Given the description of an element on the screen output the (x, y) to click on. 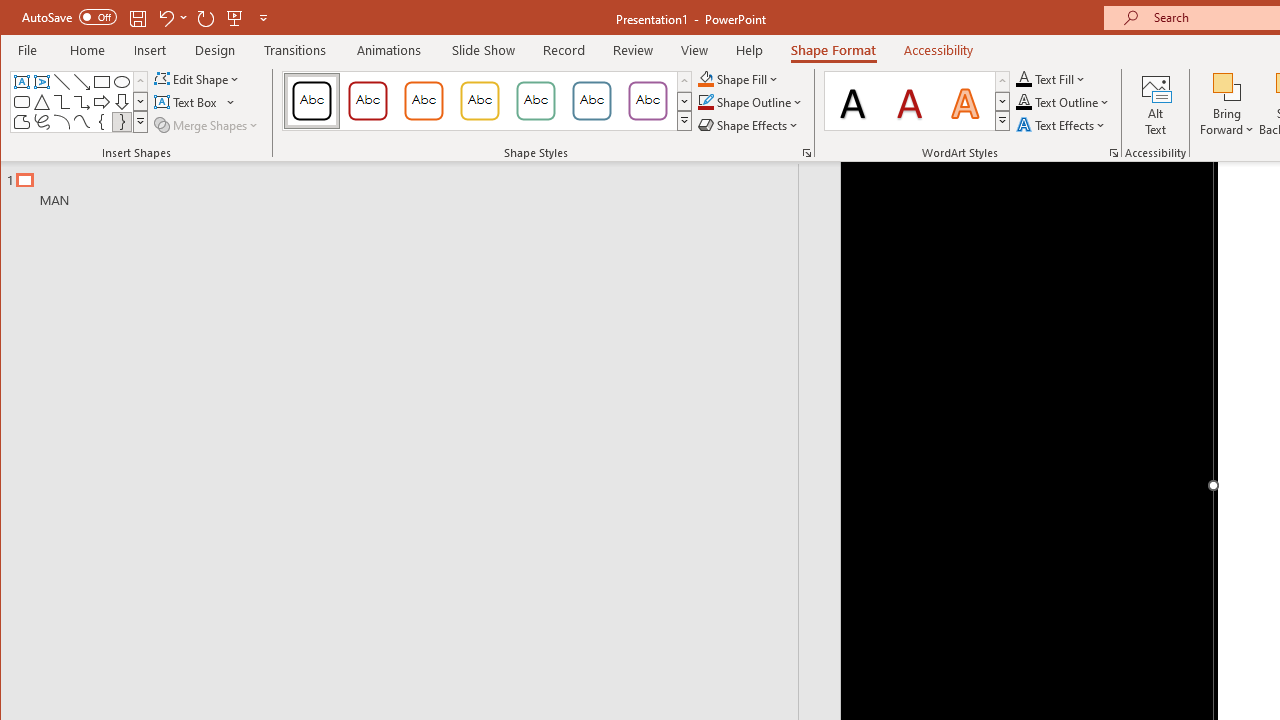
Text Outline (1062, 101)
AutomationID: ShapeStylesGallery (488, 101)
Bring Forward (1227, 104)
Colored Outline - Black, Dark 1 (312, 100)
